Given the description of an element on the screen output the (x, y) to click on. 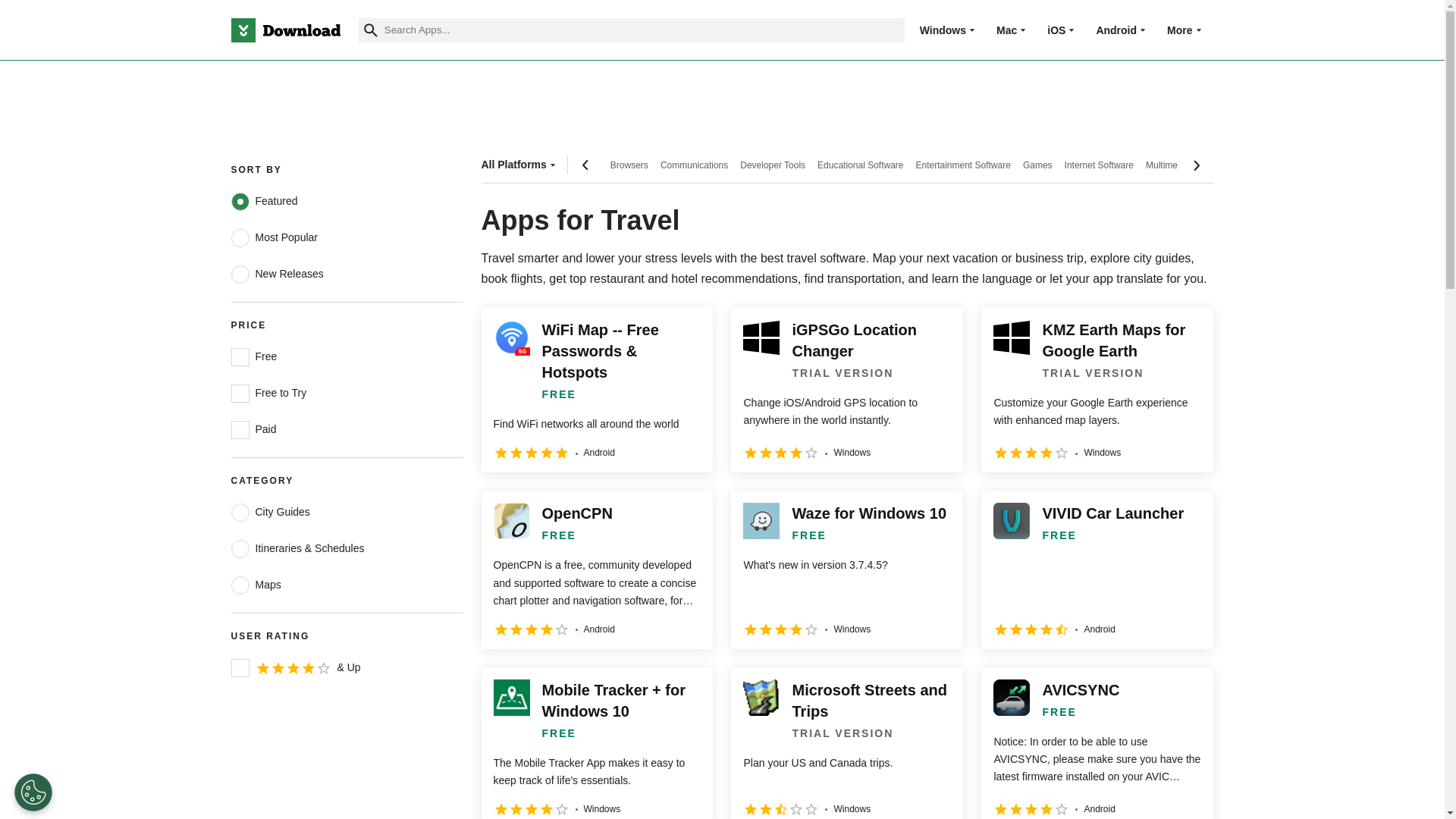
AVICSYNC (1096, 743)
travel-city-guides (239, 512)
paid (239, 429)
Mac (1005, 29)
travel-maps (239, 585)
4up (239, 668)
OpenCPN (596, 569)
Waze for Windows 10 (846, 569)
mostPopular (239, 238)
KMZ Earth Maps for Google Earth (1096, 389)
